Given the description of an element on the screen output the (x, y) to click on. 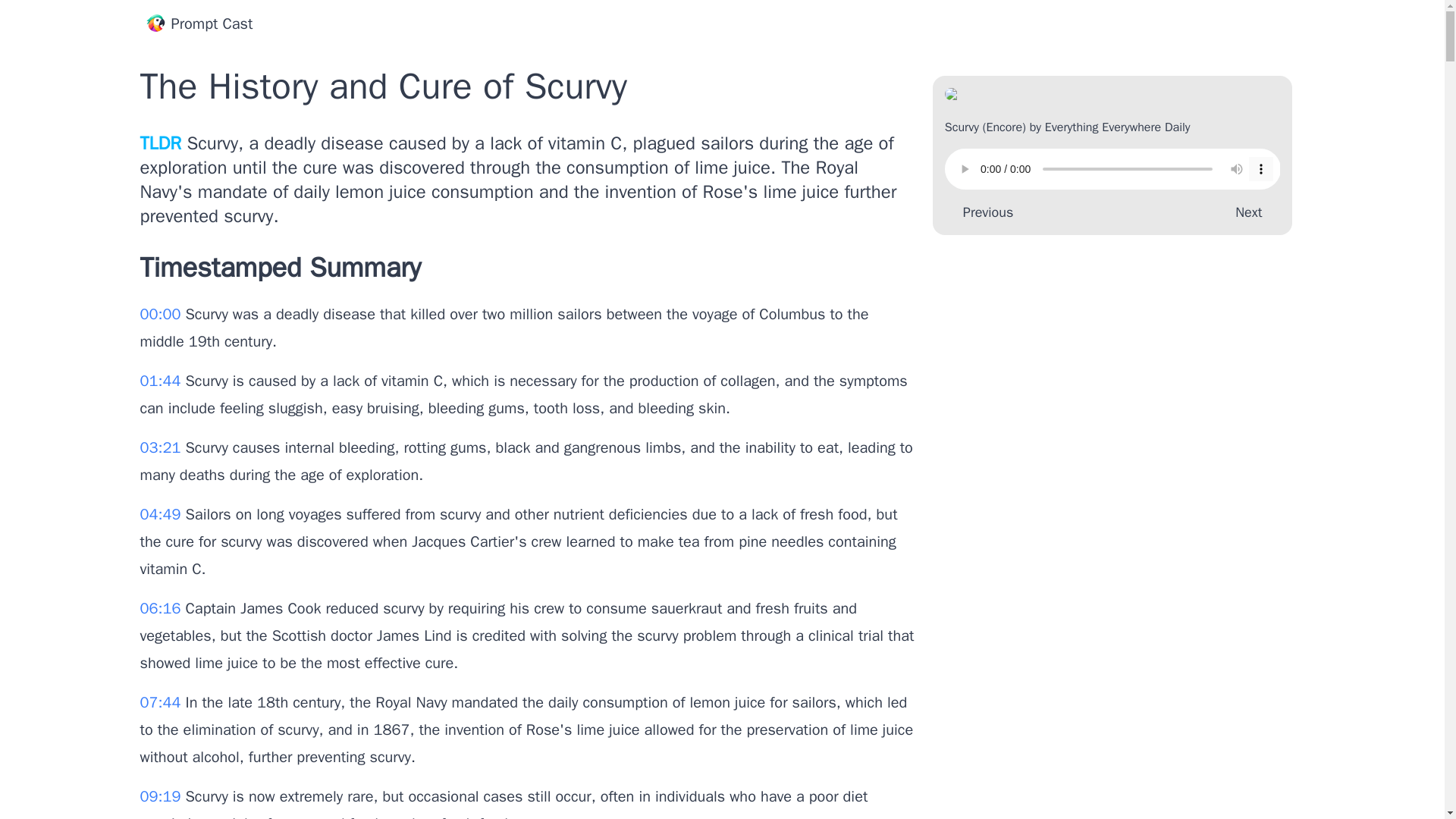
01:44 (161, 380)
Everything Everywhere Daily (1118, 127)
04:49 (161, 514)
03:21 (161, 447)
06:16 (161, 608)
Next (1251, 211)
07:44 (161, 701)
Prompt Cast (198, 24)
09:19 (161, 796)
00:00 (161, 313)
Previous (984, 211)
